Given the description of an element on the screen output the (x, y) to click on. 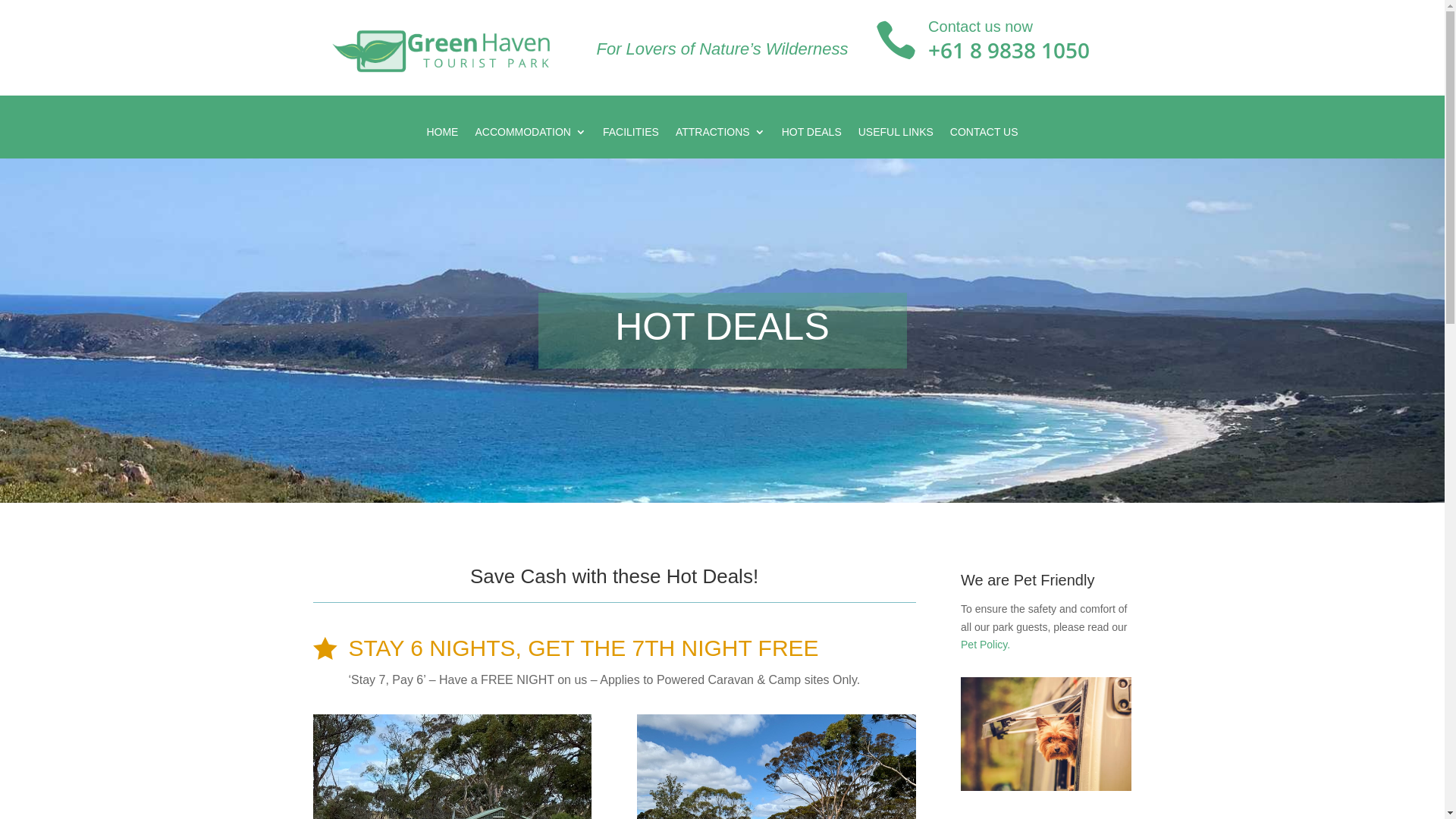
Pet Policy. Element type: text (985, 644)
ATTRACTIONS Element type: text (720, 134)
Green Haven Tourist Park Element type: hover (440, 49)
ACCOMMODATION Element type: text (530, 134)
USEFUL LINKS Element type: text (895, 134)
HOT DEALS Element type: text (811, 134)
HOME Element type: text (442, 134)
Pet Friendly - Green Haven Tourist Park Element type: hover (1045, 733)
CONTACT US Element type: text (984, 134)
FACILITIES Element type: text (630, 134)
